Given the description of an element on the screen output the (x, y) to click on. 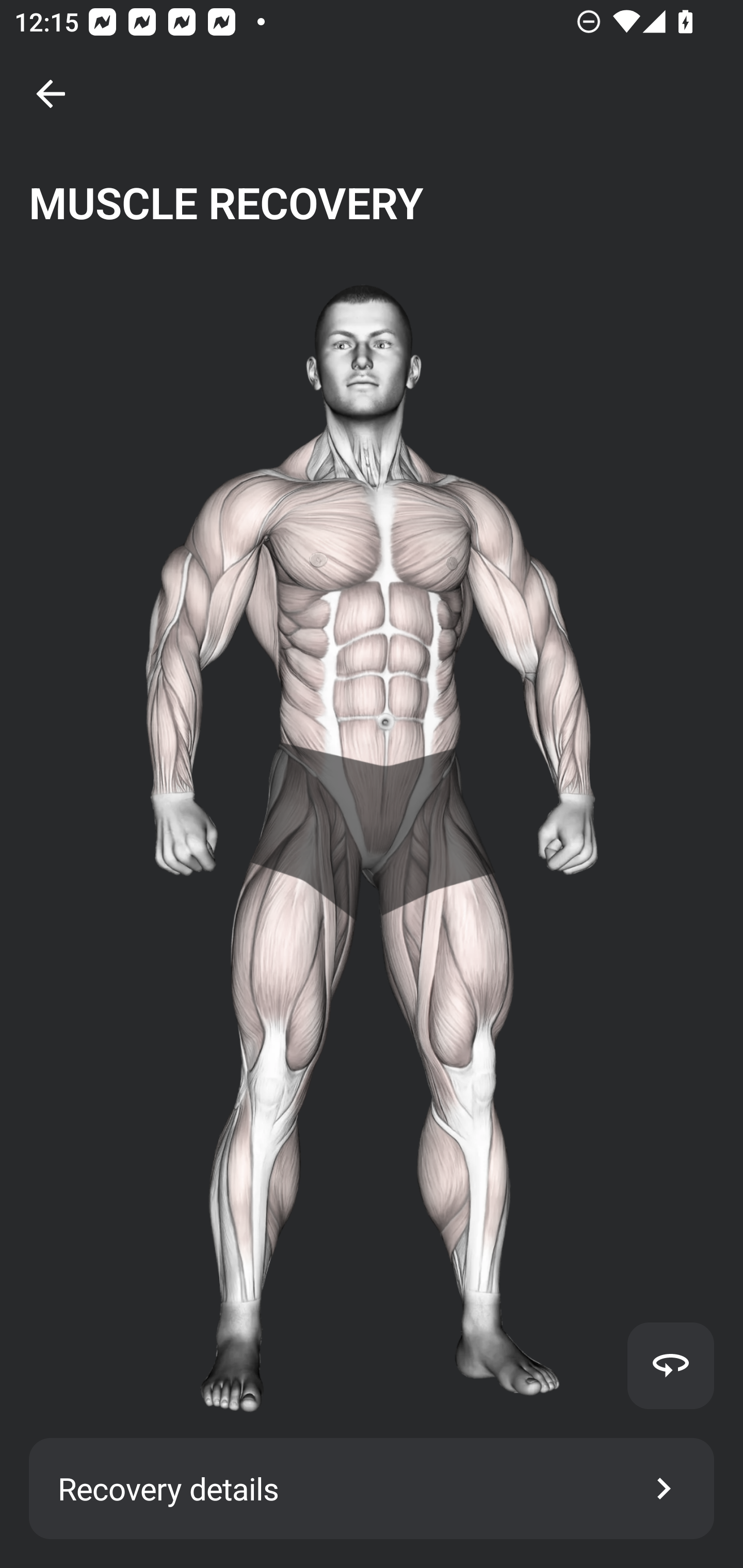
Back Icon (50, 93)
Turn icon (670, 1365)
Recovery details Next icon (371, 1488)
